Given the description of an element on the screen output the (x, y) to click on. 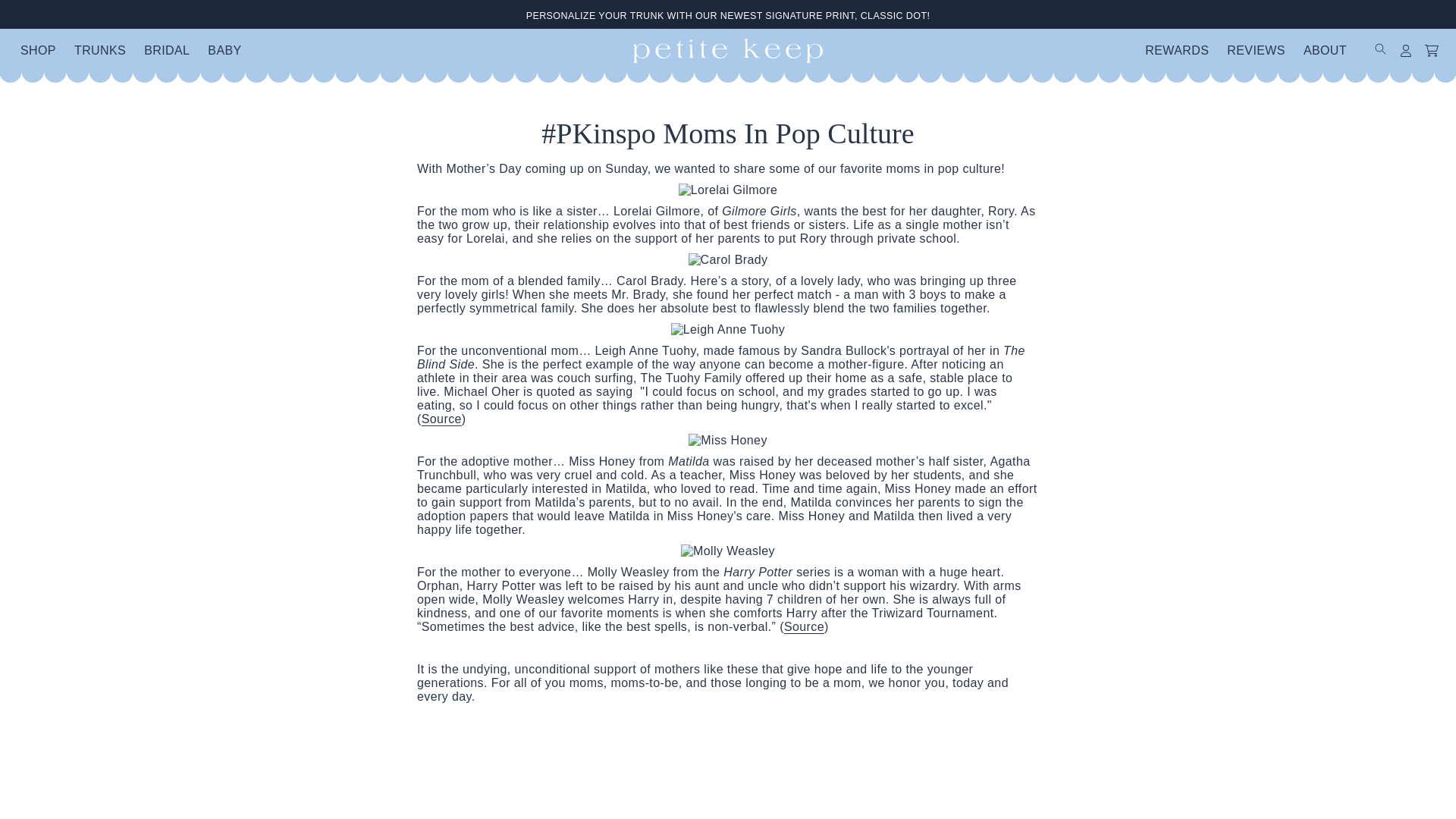
BRIDAL (166, 50)
SKIP TO CONTENT (14, 8)
TRUNKS (100, 50)
BABY (224, 50)
